Given the description of an element on the screen output the (x, y) to click on. 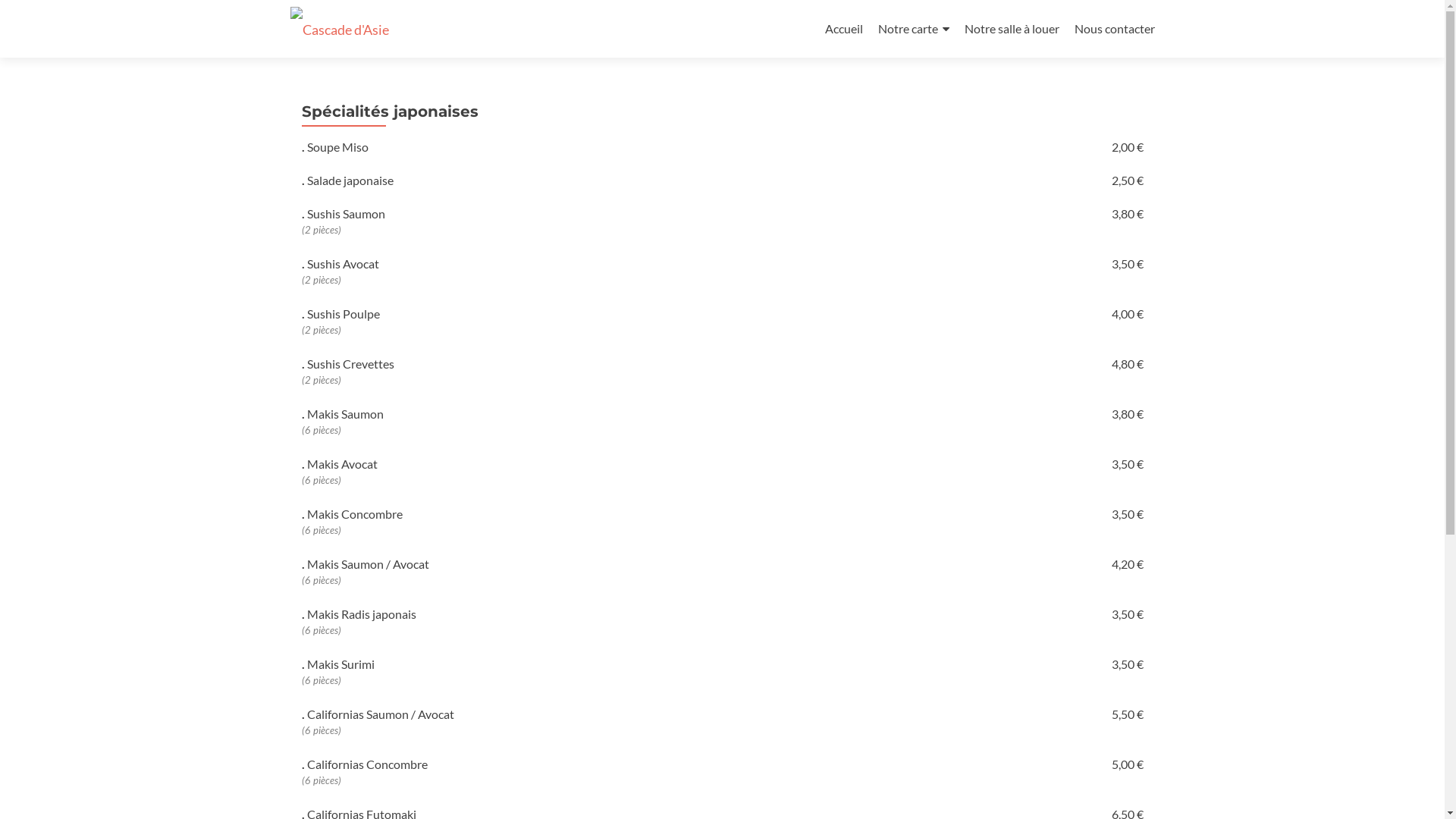
Notre carte Element type: text (913, 28)
Nous contacter Element type: text (1113, 28)
Accueil Element type: text (843, 28)
